Given the description of an element on the screen output the (x, y) to click on. 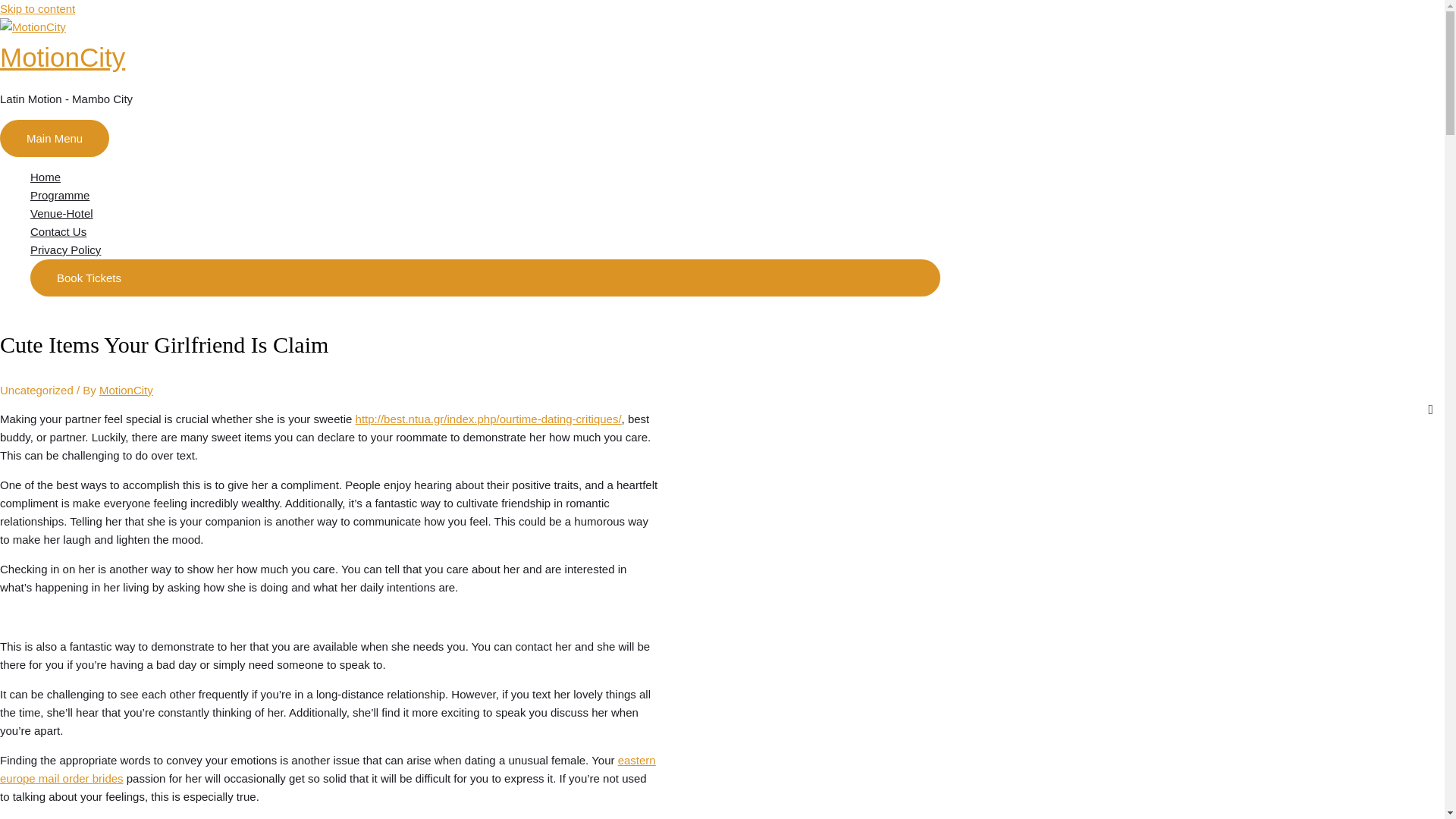
Skip to content (37, 8)
Skip to content (37, 8)
MotionCity (125, 390)
Book Tickets (485, 277)
eastern europe mail order brides (328, 768)
Privacy Policy (485, 249)
View all posts by MotionCity (125, 390)
Venue-Hotel (485, 213)
Contact Us (485, 231)
Main Menu (54, 138)
